Given the description of an element on the screen output the (x, y) to click on. 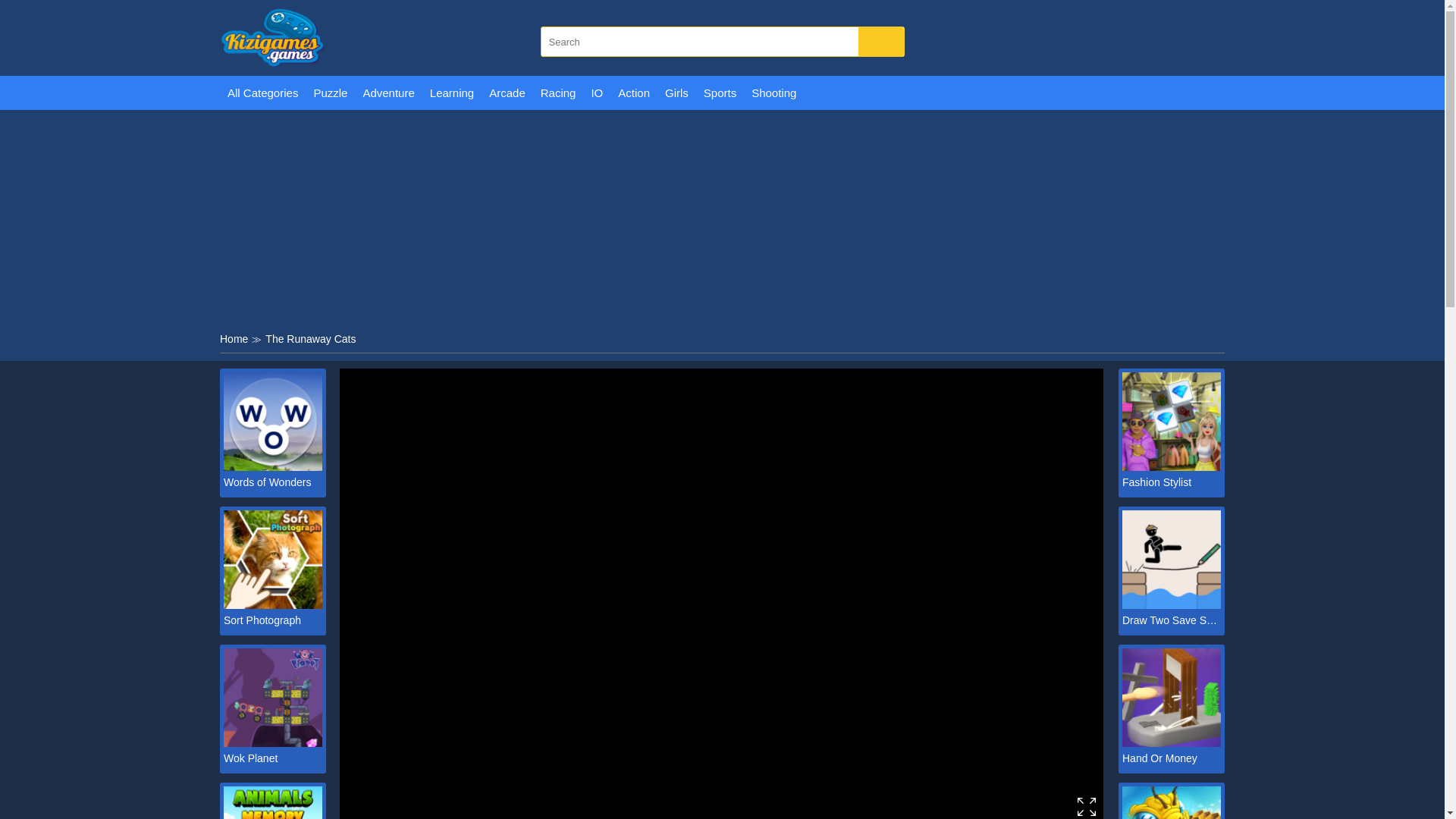
Draw Two Save Save the man (1171, 620)
Girls (676, 92)
Fashion Stylist (1171, 481)
Words of Wonders (272, 481)
Sort Photograph (272, 604)
Girls (676, 92)
Puzzle (330, 92)
Words of Wonders (272, 466)
Hand Or Money (1171, 758)
Arcade  (506, 92)
Words of Wonders (272, 481)
Action (634, 92)
Learning (451, 92)
All Categories (262, 92)
Racing (557, 92)
